Given the description of an element on the screen output the (x, y) to click on. 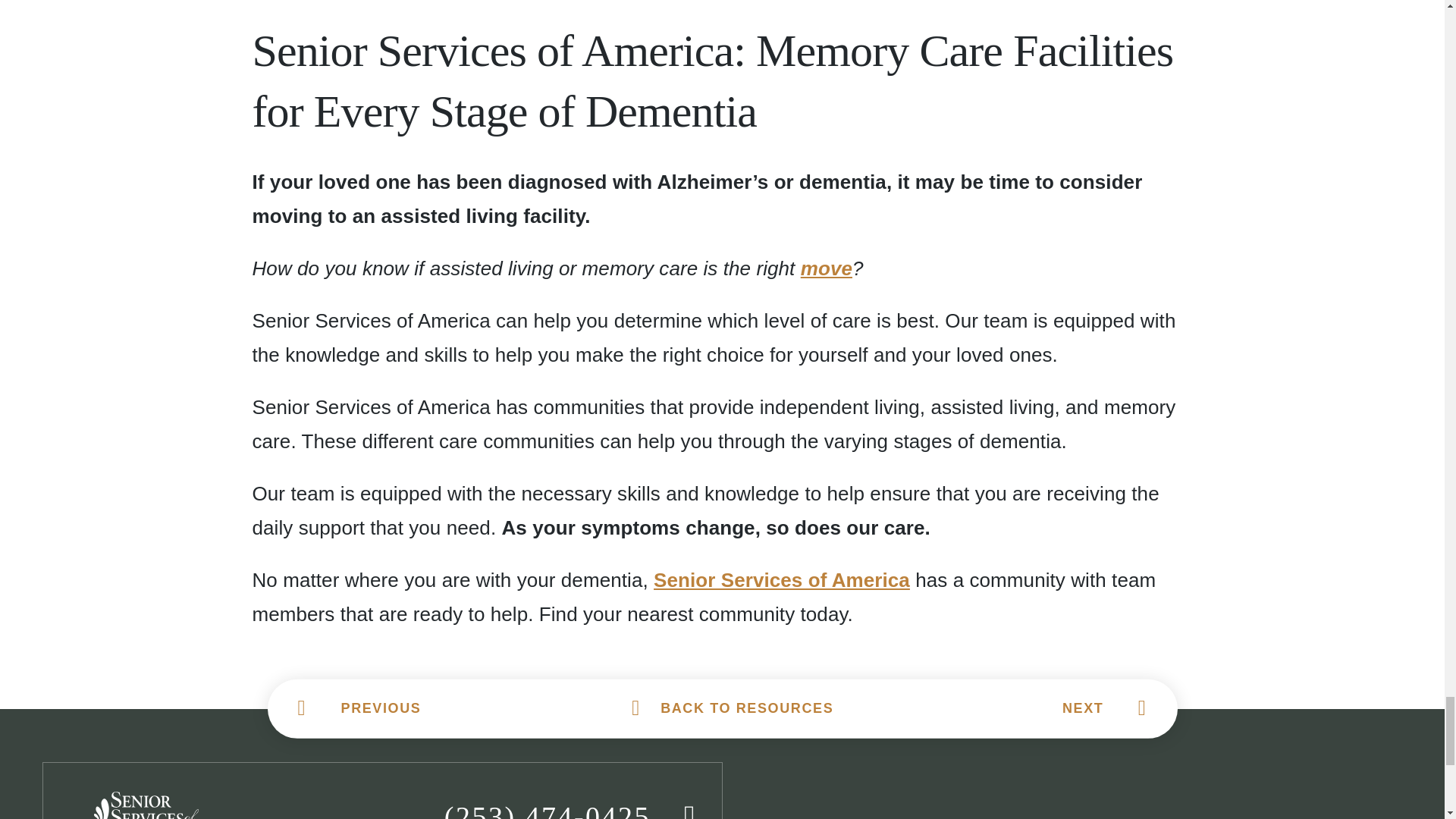
Senior Services of America (781, 579)
move (825, 268)
